Given the description of an element on the screen output the (x, y) to click on. 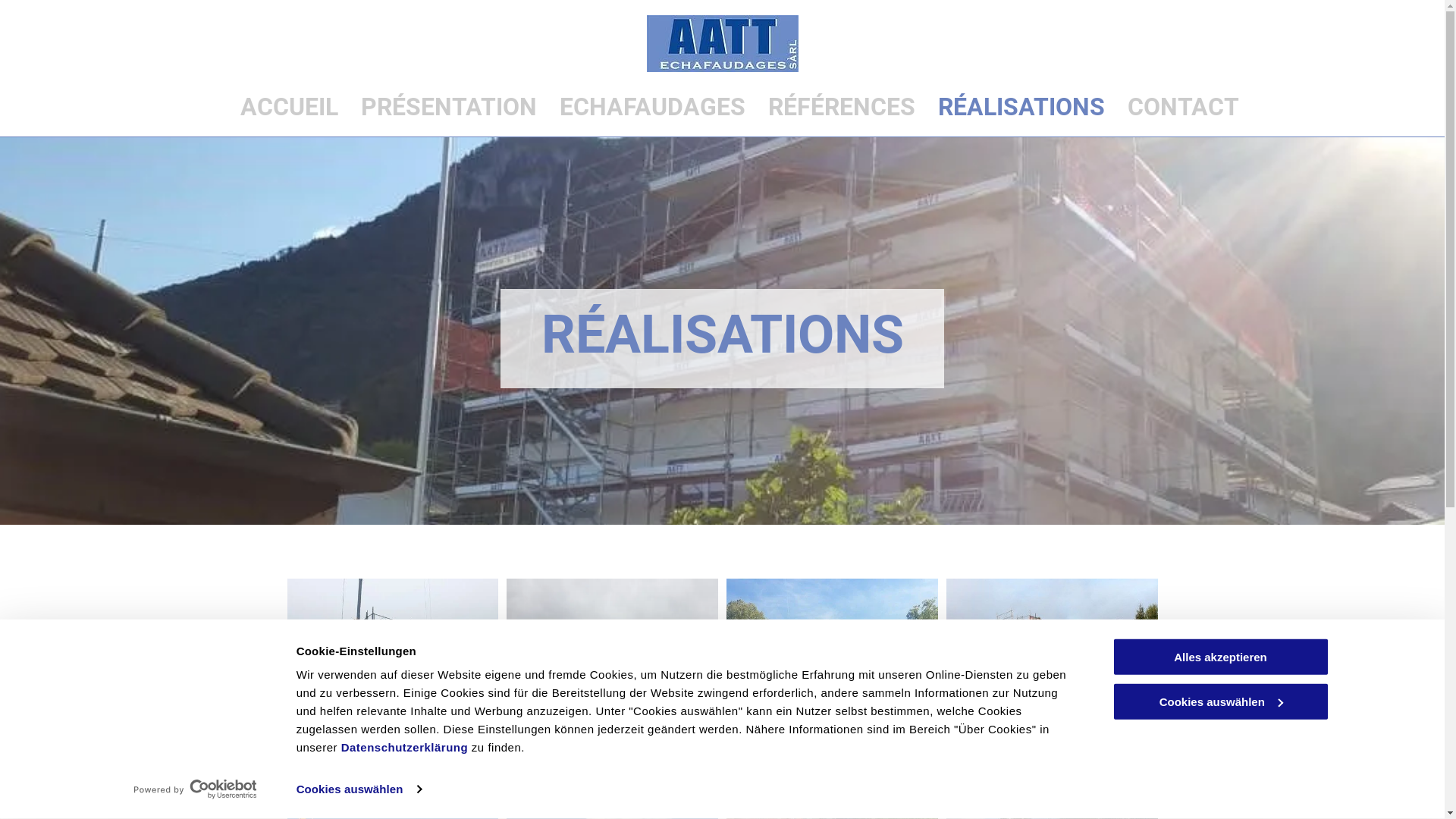
ECHAFAUDAGES Element type: text (652, 107)
CONTACT Element type: text (1182, 107)
ACCUEIL Element type: text (288, 107)
Alles akzeptieren Element type: text (1219, 656)
